Given the description of an element on the screen output the (x, y) to click on. 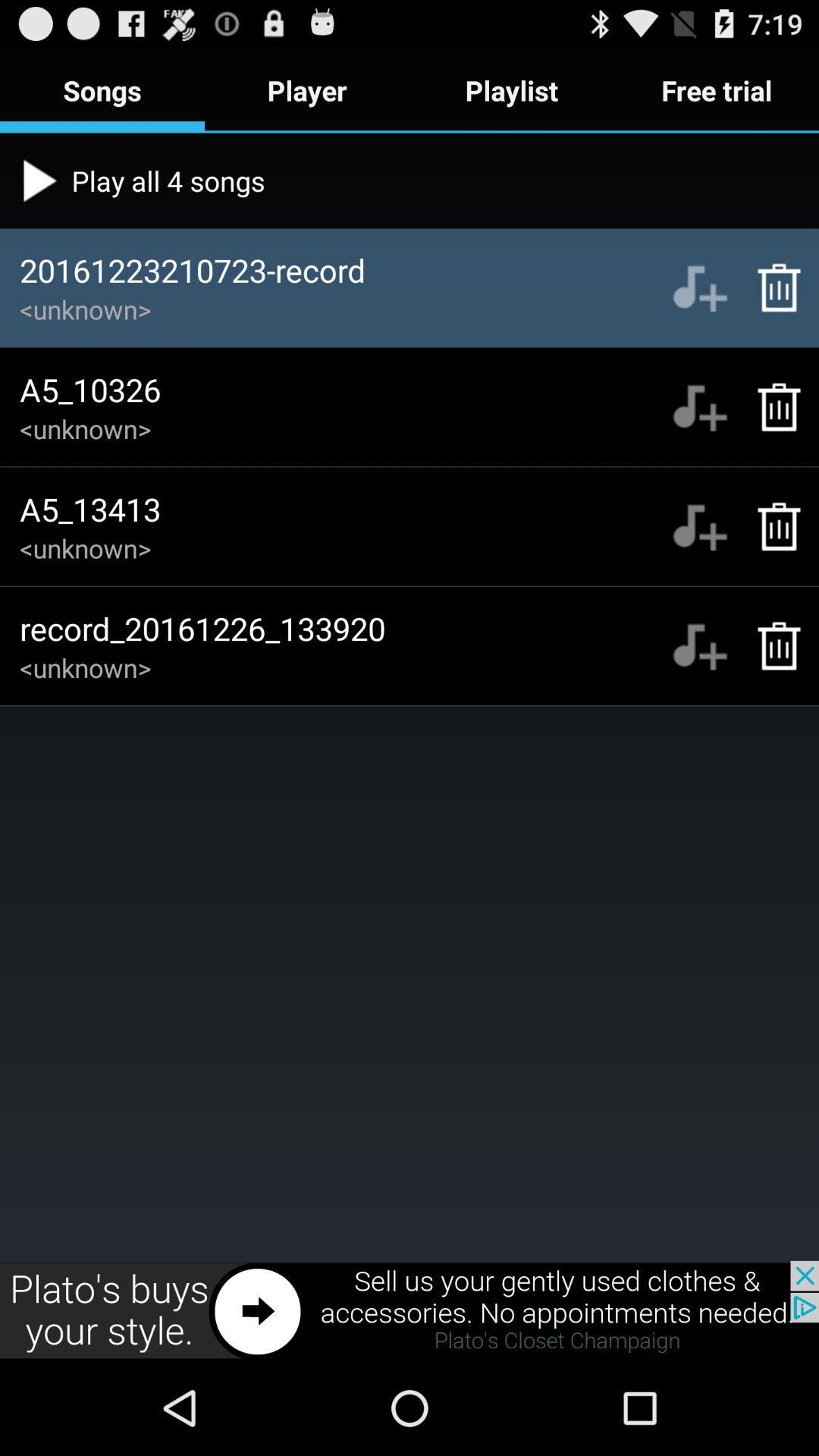
toggle autoplay option (699, 407)
